Given the description of an element on the screen output the (x, y) to click on. 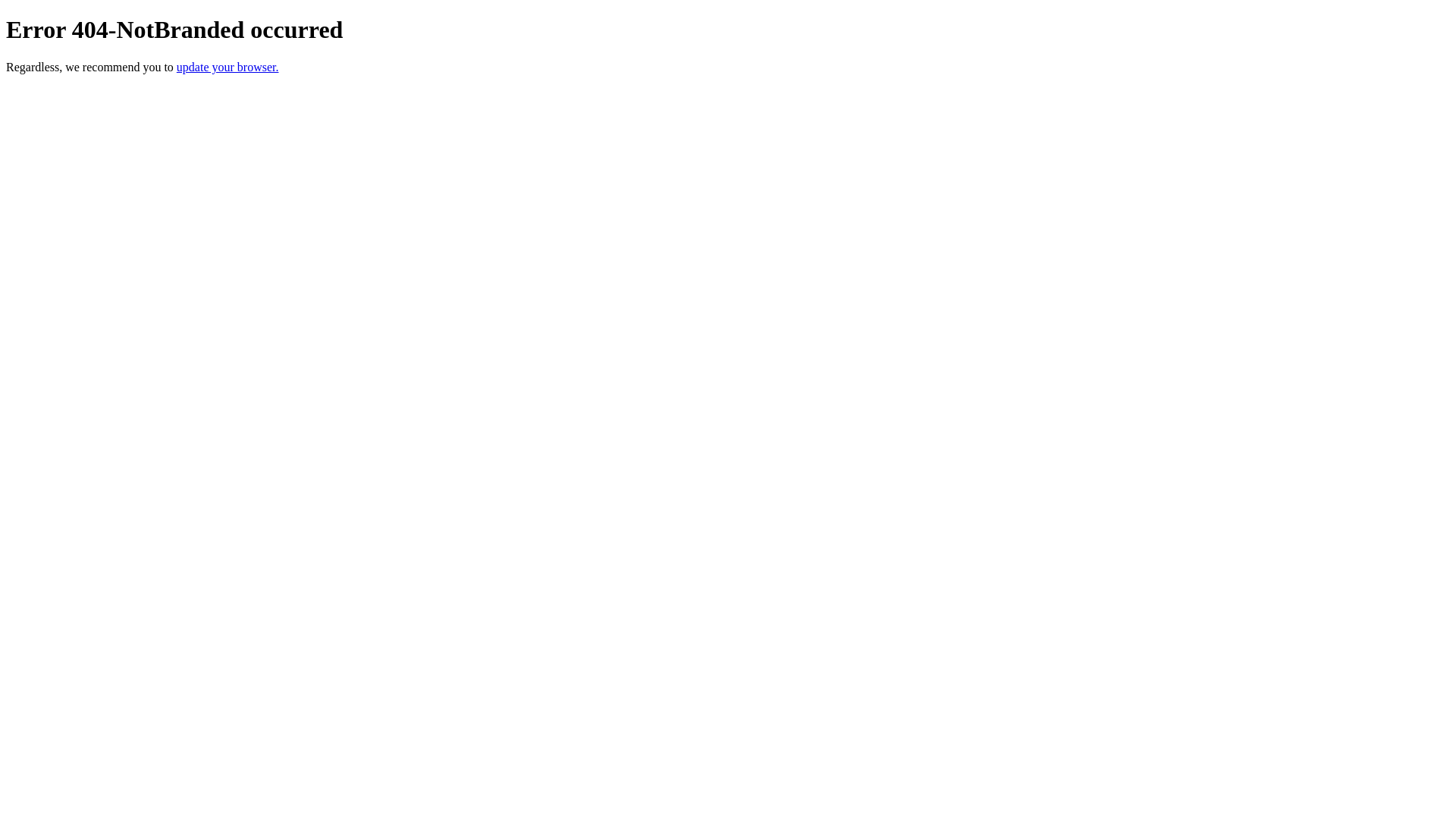
update your browser. Element type: text (227, 66)
